Given the description of an element on the screen output the (x, y) to click on. 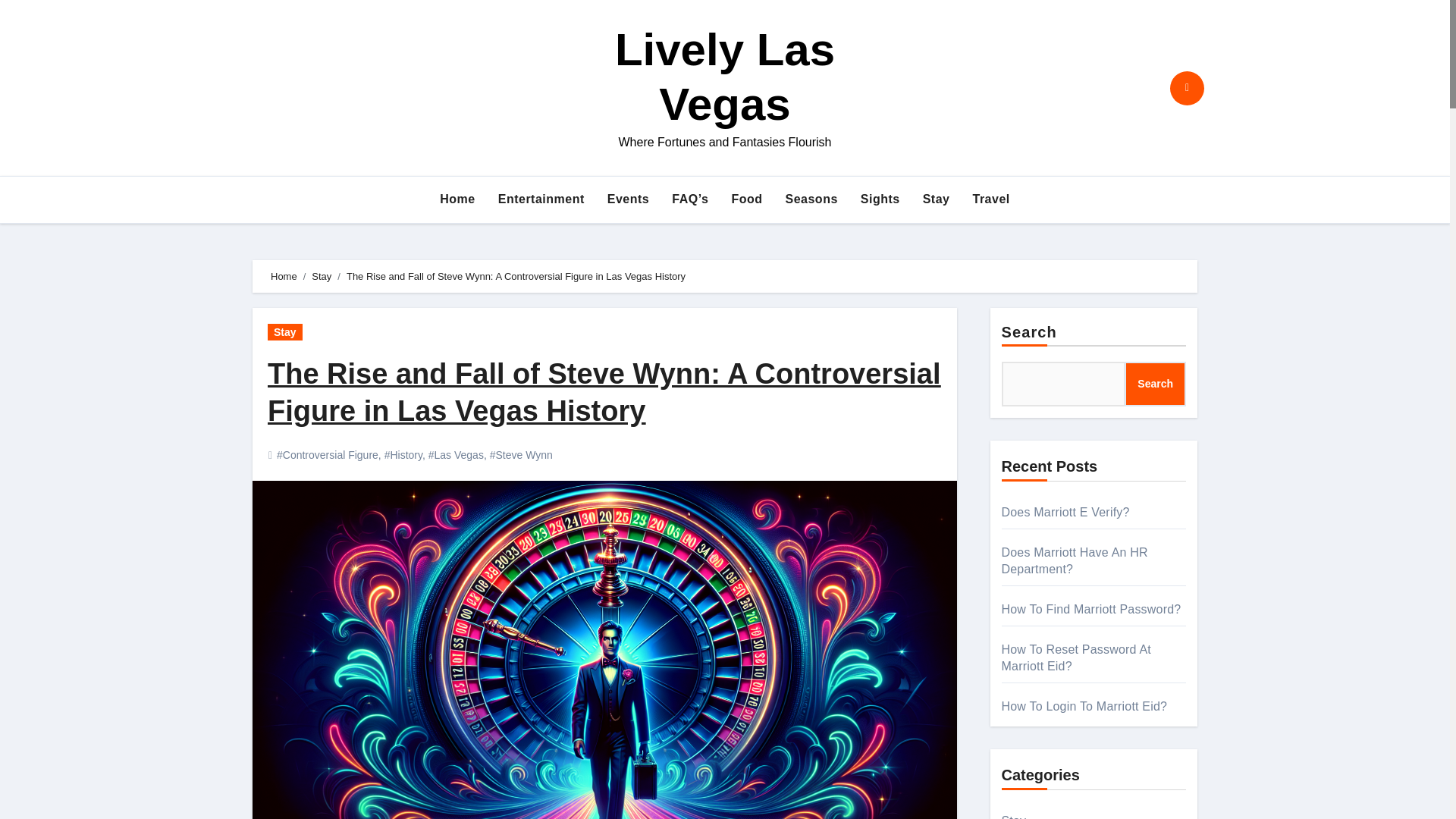
Seasons (810, 199)
Stay (935, 199)
Food (746, 199)
Stay (284, 331)
Sights (879, 199)
Home (457, 199)
Events (628, 199)
Events (628, 199)
Home (283, 276)
